Given the description of an element on the screen output the (x, y) to click on. 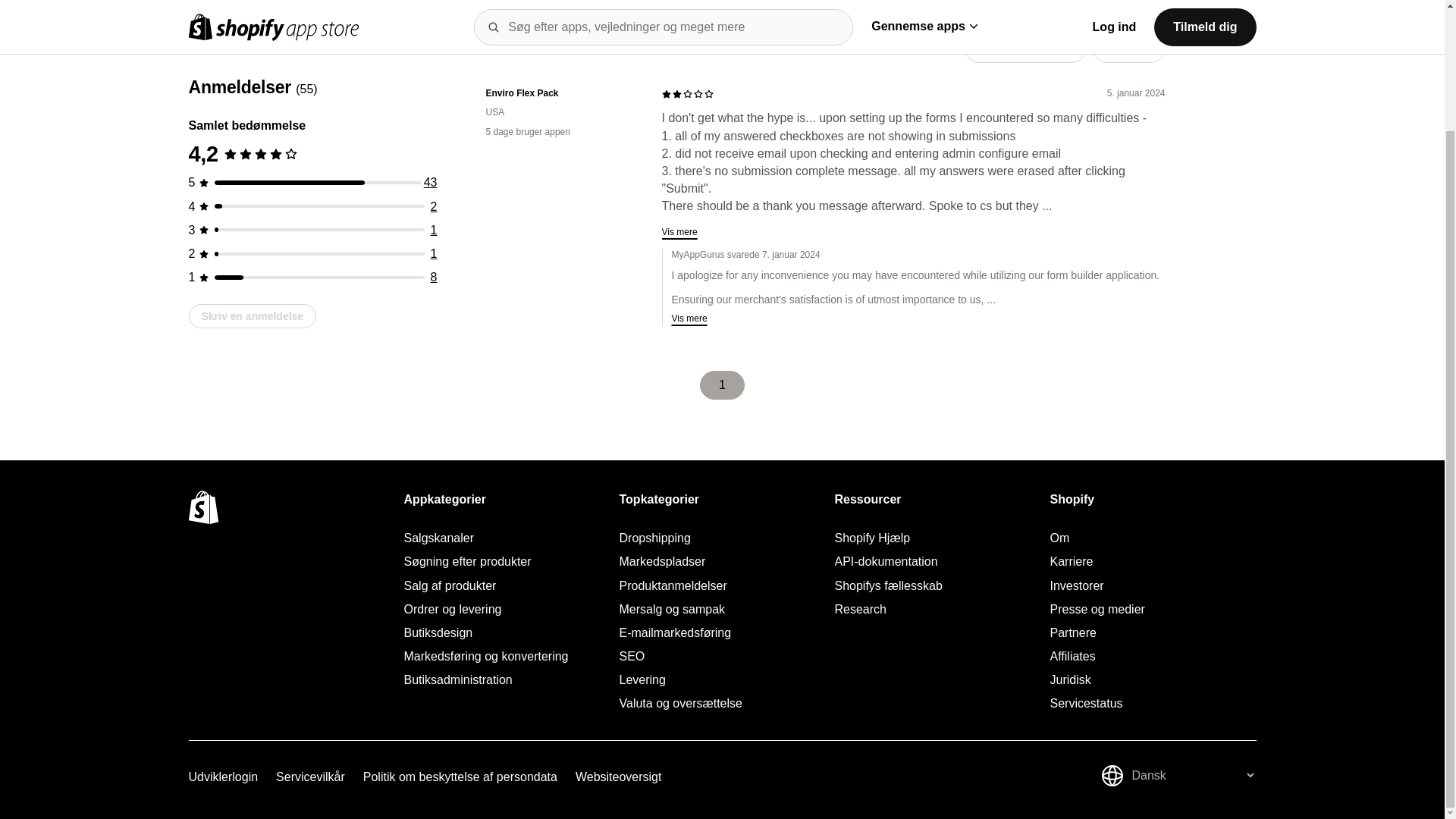
1 (434, 185)
8 (434, 232)
43 (430, 137)
2 (434, 162)
Enviro Flex Pack (560, 92)
1 (434, 209)
